Given the description of an element on the screen output the (x, y) to click on. 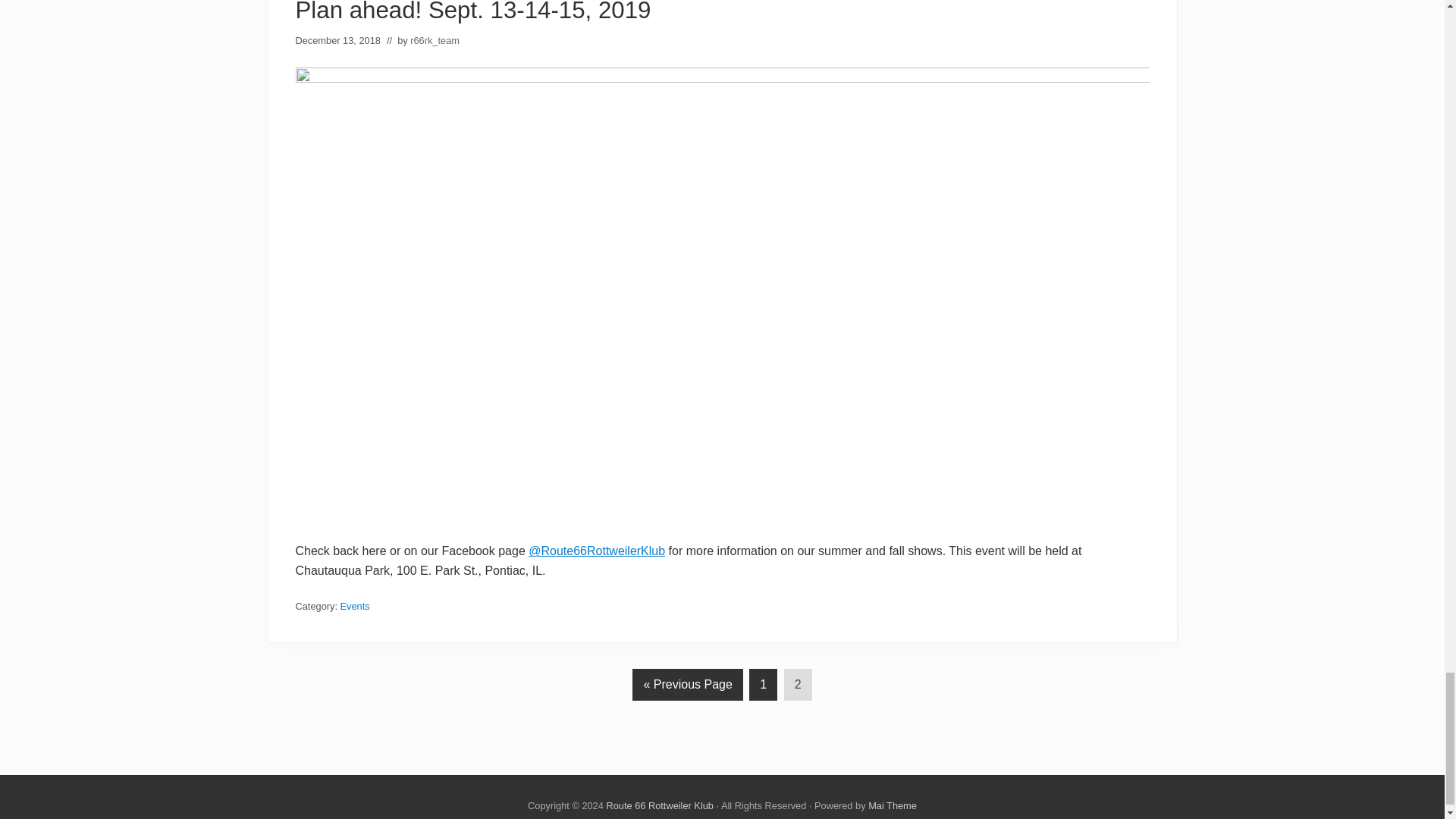
Plan ahead! Sept. 13-14-15, 2019 (472, 11)
Route 66 Rottweiler Klub (659, 805)
Route 66 Rottweiler Klub (659, 805)
Events (354, 605)
Mai Theme (892, 805)
